Given the description of an element on the screen output the (x, y) to click on. 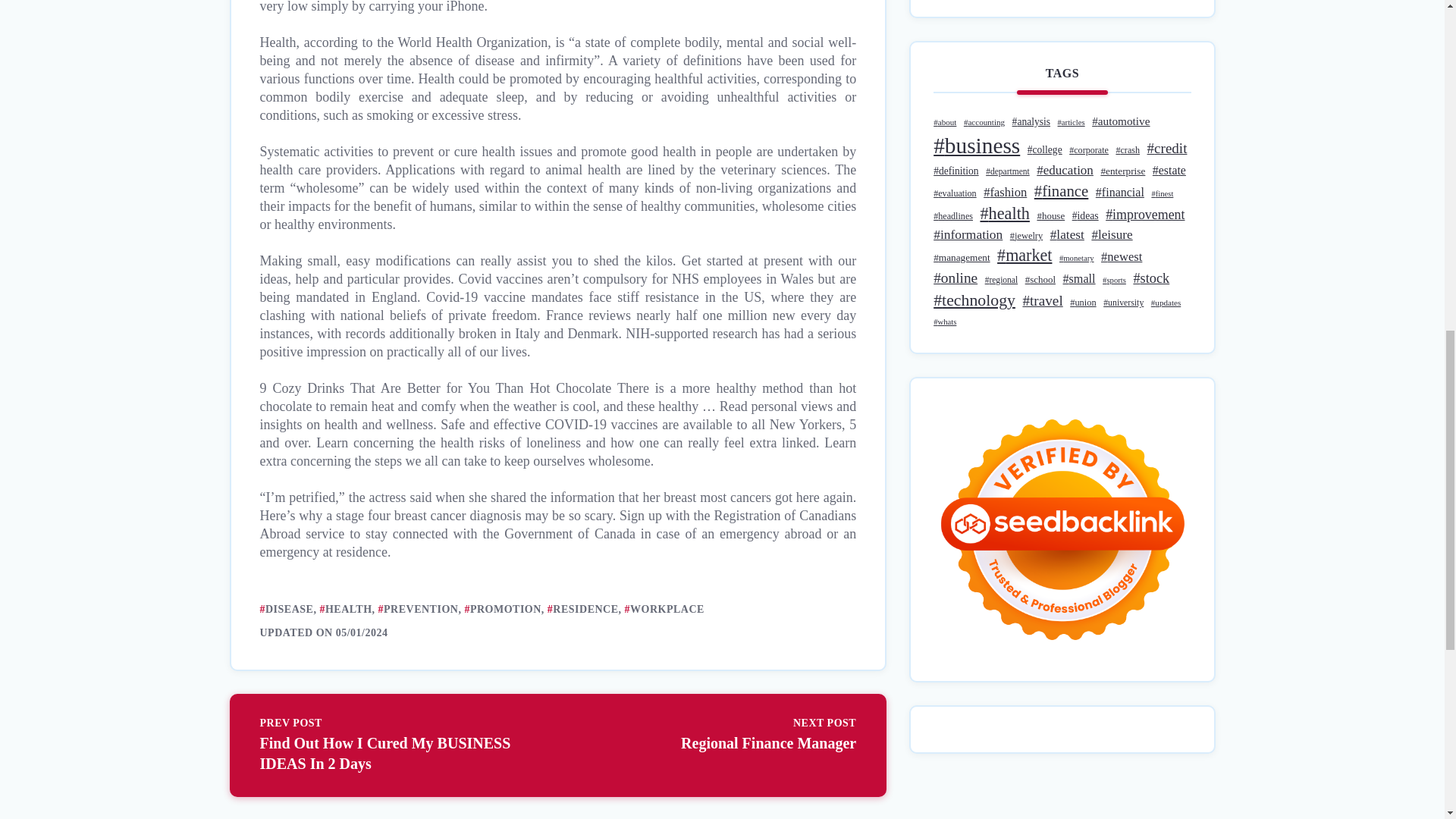
Find Out How I Cured My BUSINESS IDEAS In 2 Days (400, 744)
Seedbacklink (1062, 529)
Regional Finance Manager (714, 734)
